Given the description of an element on the screen output the (x, y) to click on. 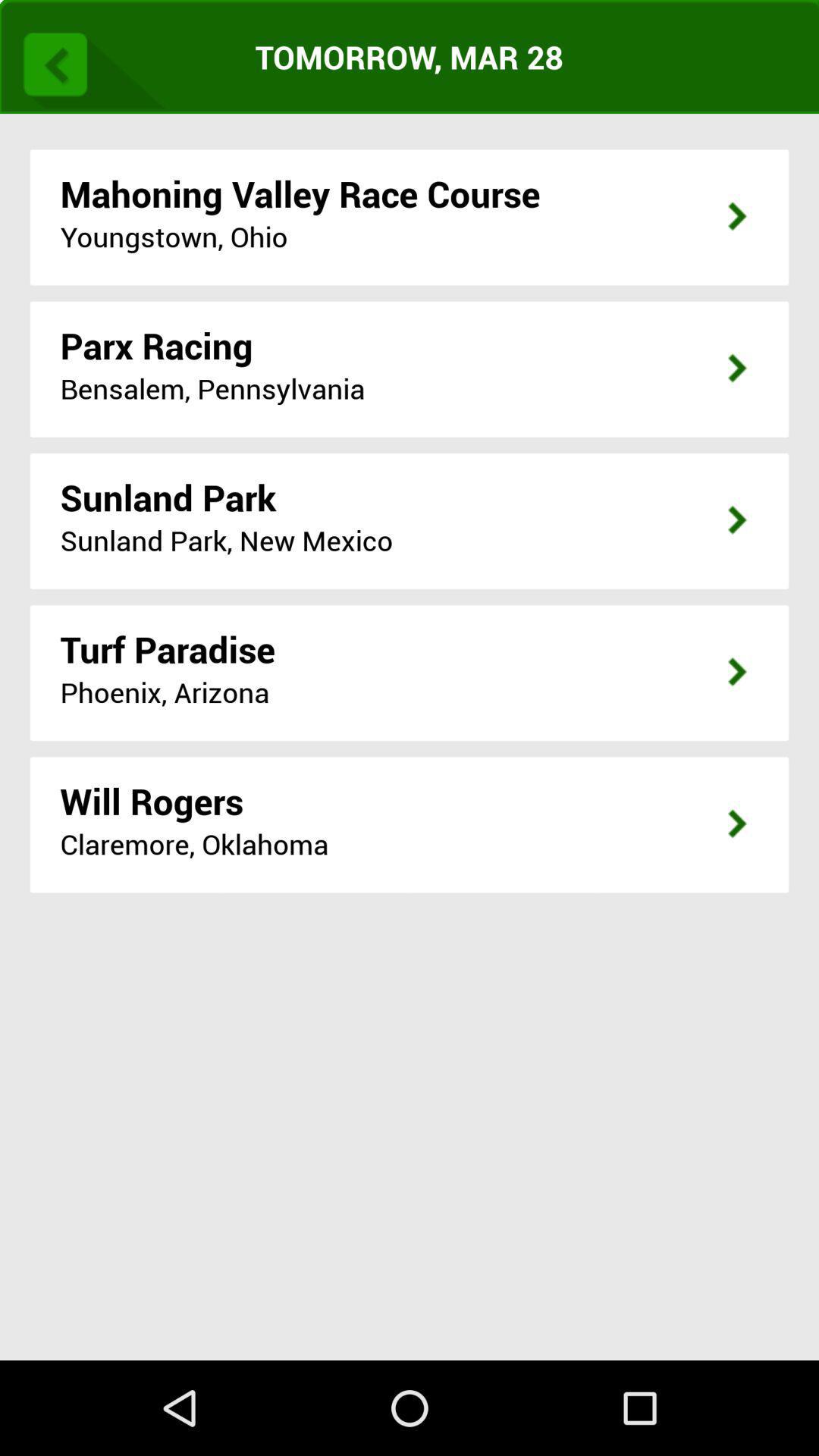
choose app below the claremore, oklahoma app (409, 1144)
